Given the description of an element on the screen output the (x, y) to click on. 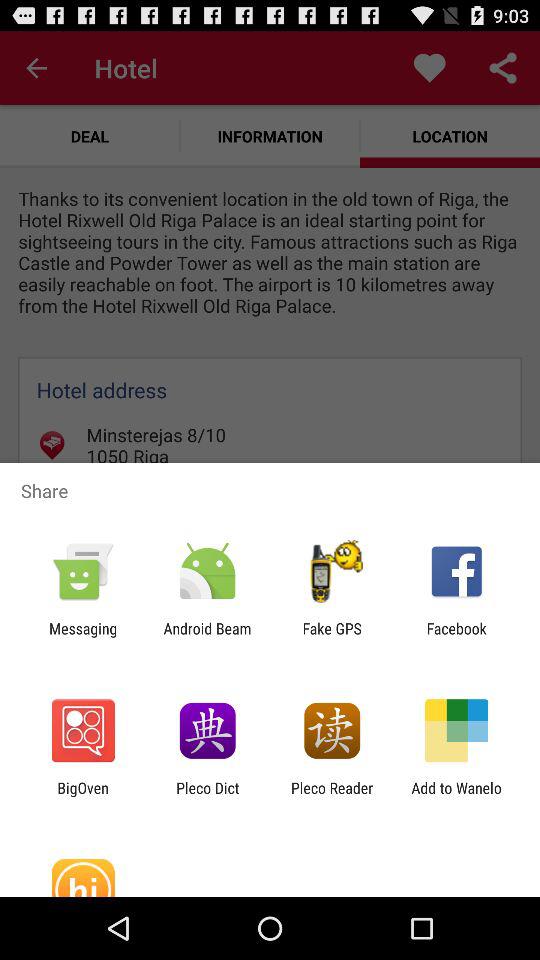
jump until the pleco reader (331, 796)
